Given the description of an element on the screen output the (x, y) to click on. 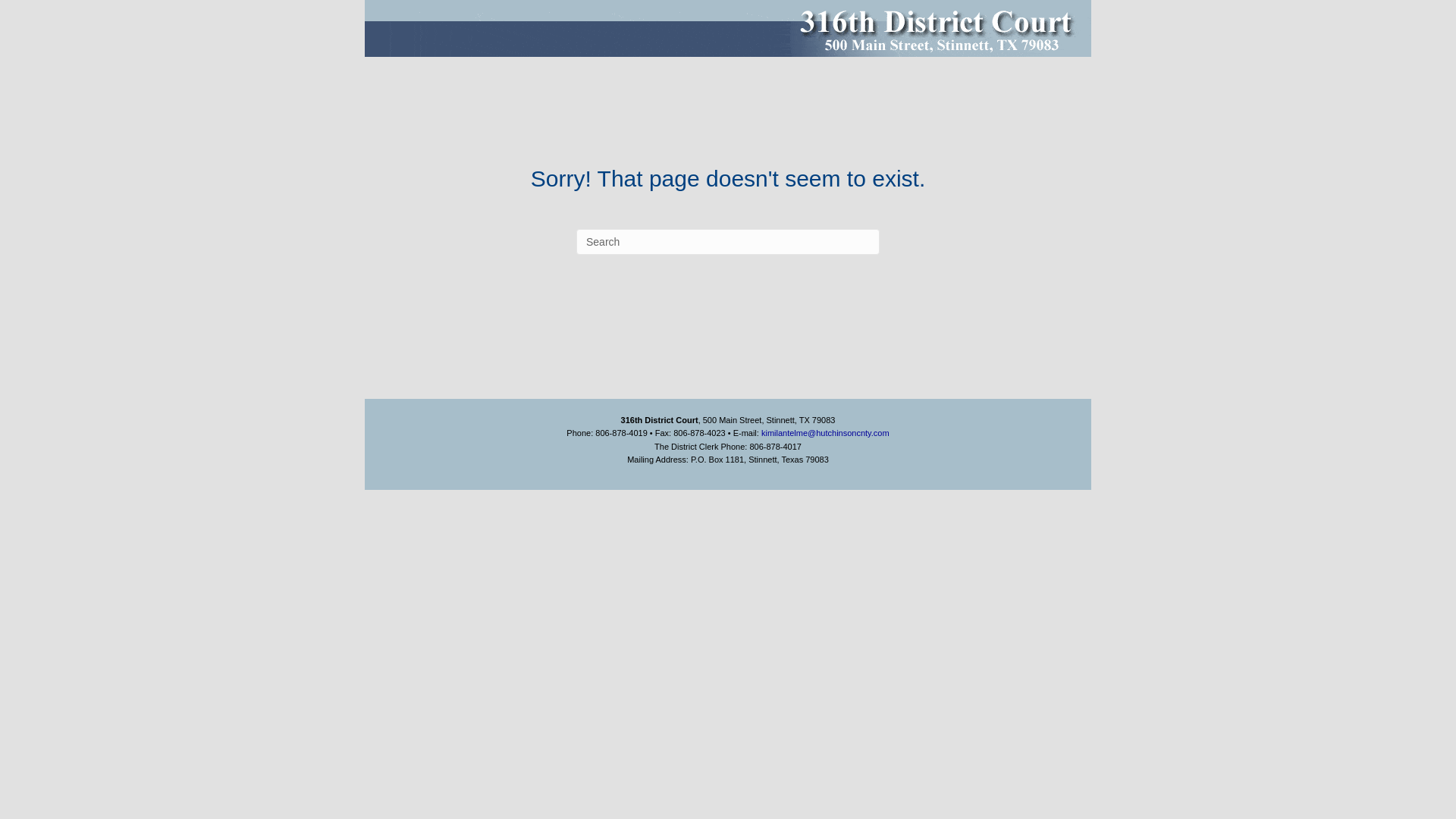
kimilantelme@hutchinsoncnty.com Element type: text (825, 432)
topimg Element type: hover (727, 28)
Type and press Enter to search. Element type: hover (727, 241)
